Given the description of an element on the screen output the (x, y) to click on. 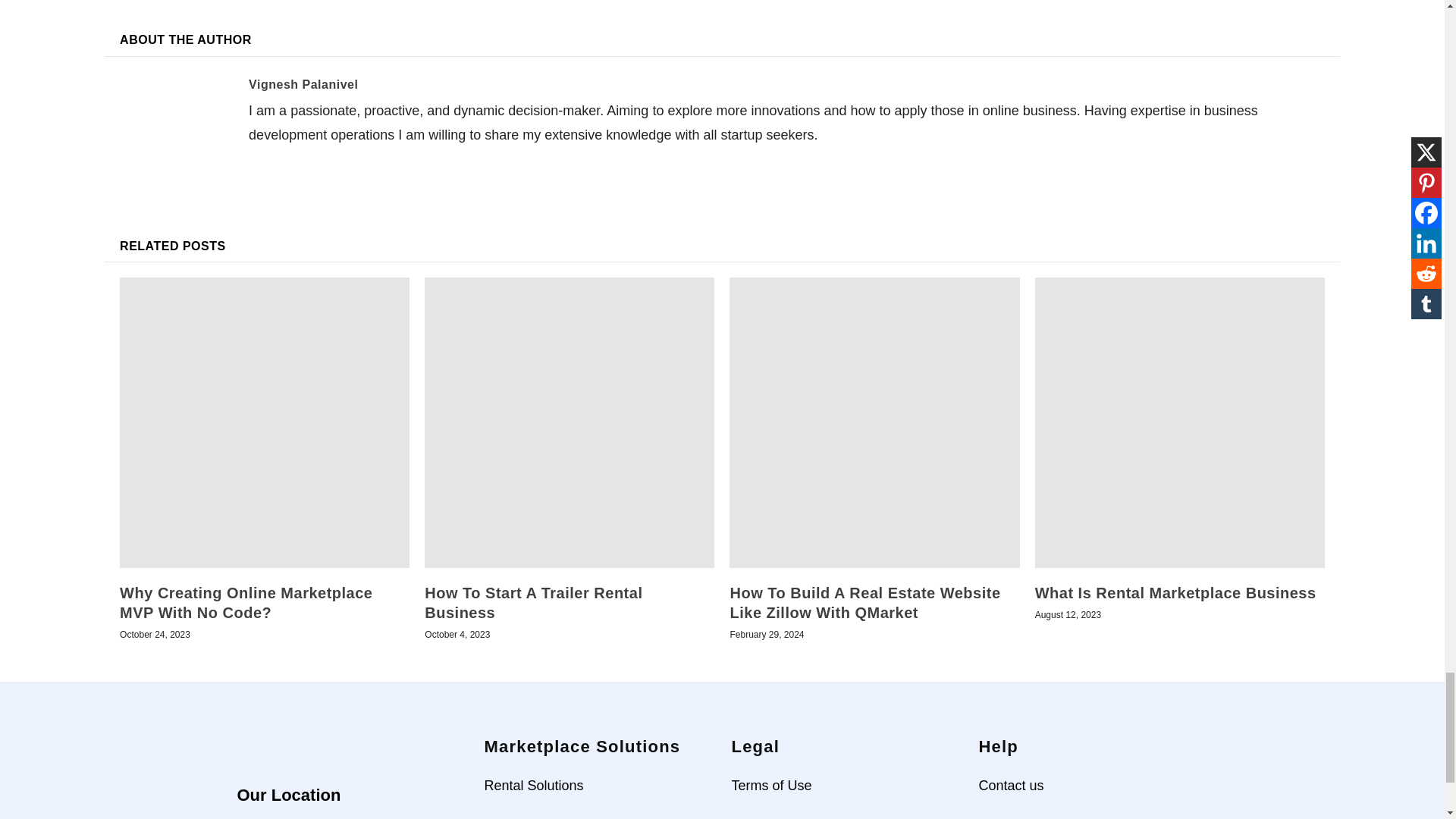
View all posts by Vignesh Palanivel (303, 83)
How To Start A Trailer Rental Business (569, 422)
How To Build A Real Estate Website Like Zillow With QMarket (874, 422)
Why Creating Online Marketplace MVP With No Code? (264, 422)
What Is Rental Marketplace Business (1179, 422)
